Given the description of an element on the screen output the (x, y) to click on. 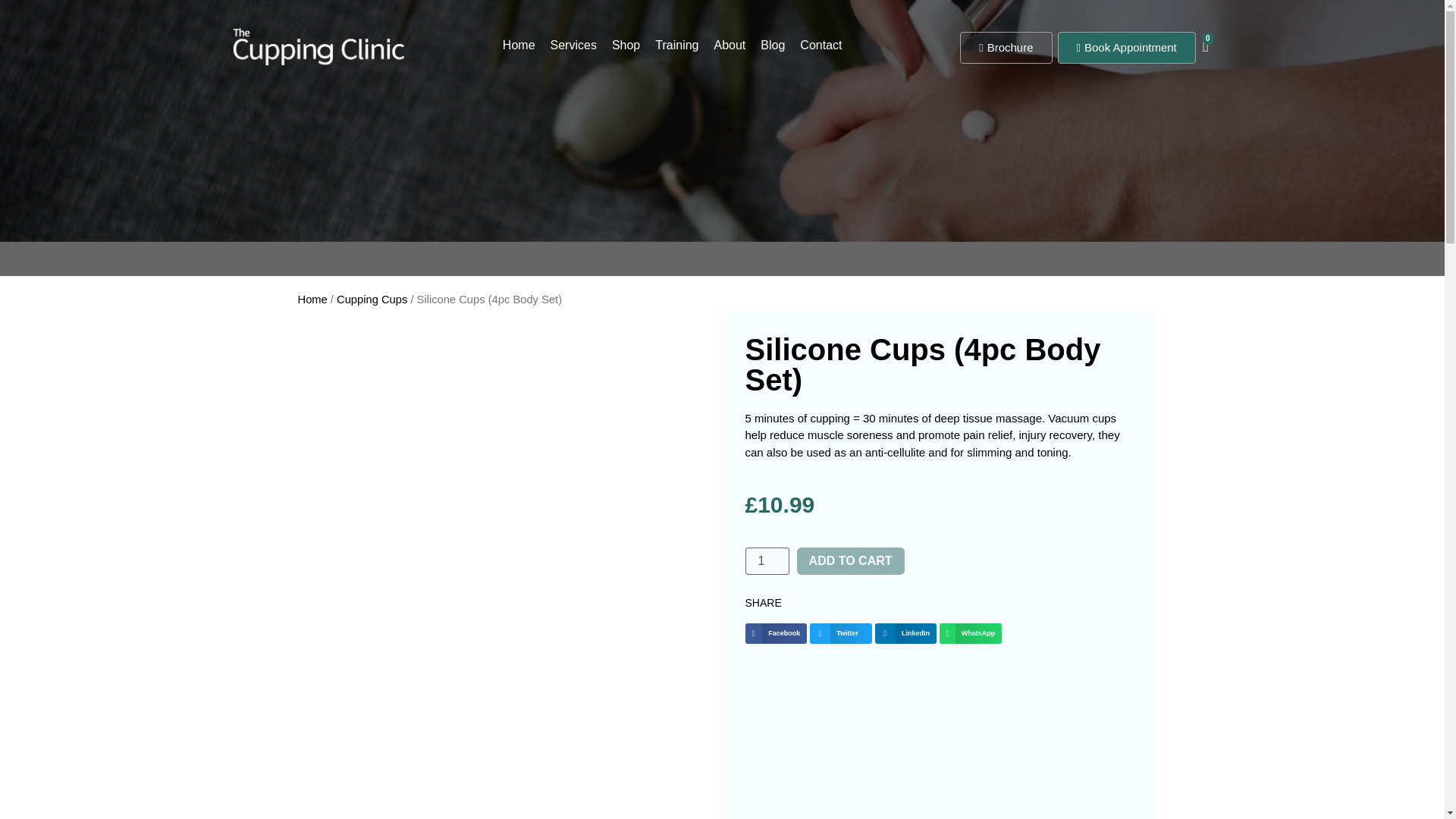
Home (518, 45)
Training (675, 45)
Services (573, 45)
1 (766, 560)
Shop (625, 45)
Contact (820, 45)
About (729, 45)
